Given the description of an element on the screen output the (x, y) to click on. 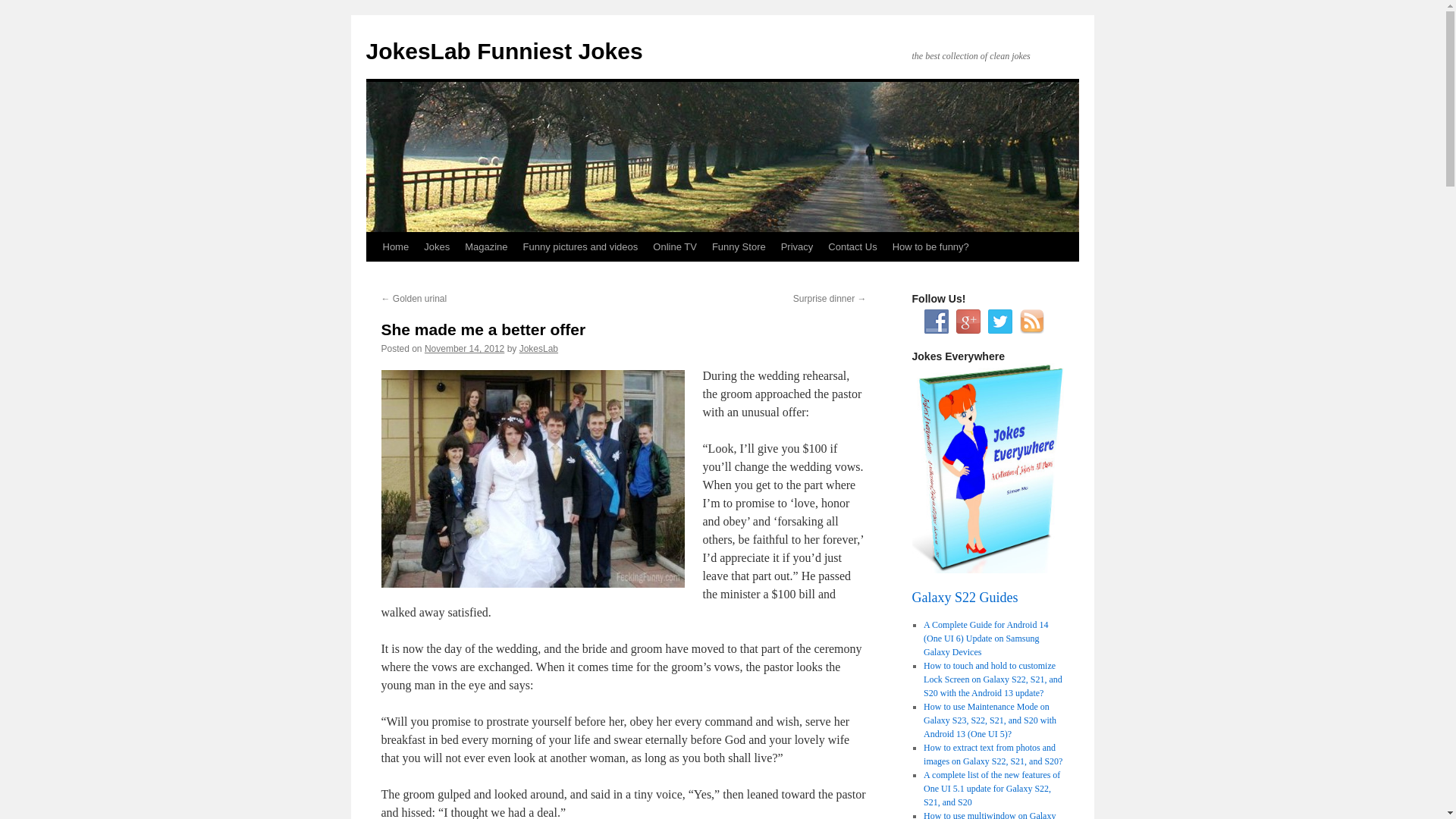
Magazine (486, 246)
Jokes (436, 246)
JokesLab (538, 348)
9:36 am (464, 348)
Home (395, 246)
Follow Us on Twitter (999, 321)
Funny pictures and videos (580, 246)
November 14, 2012 (464, 348)
View all posts by JokesLab (538, 348)
JokesLab Funniest Jokes (503, 50)
Privacy (797, 246)
How to be funny? (930, 246)
Funny Store (738, 246)
Follow Us on Facebook (935, 321)
unhappy-bride (532, 479)
